Given the description of an element on the screen output the (x, y) to click on. 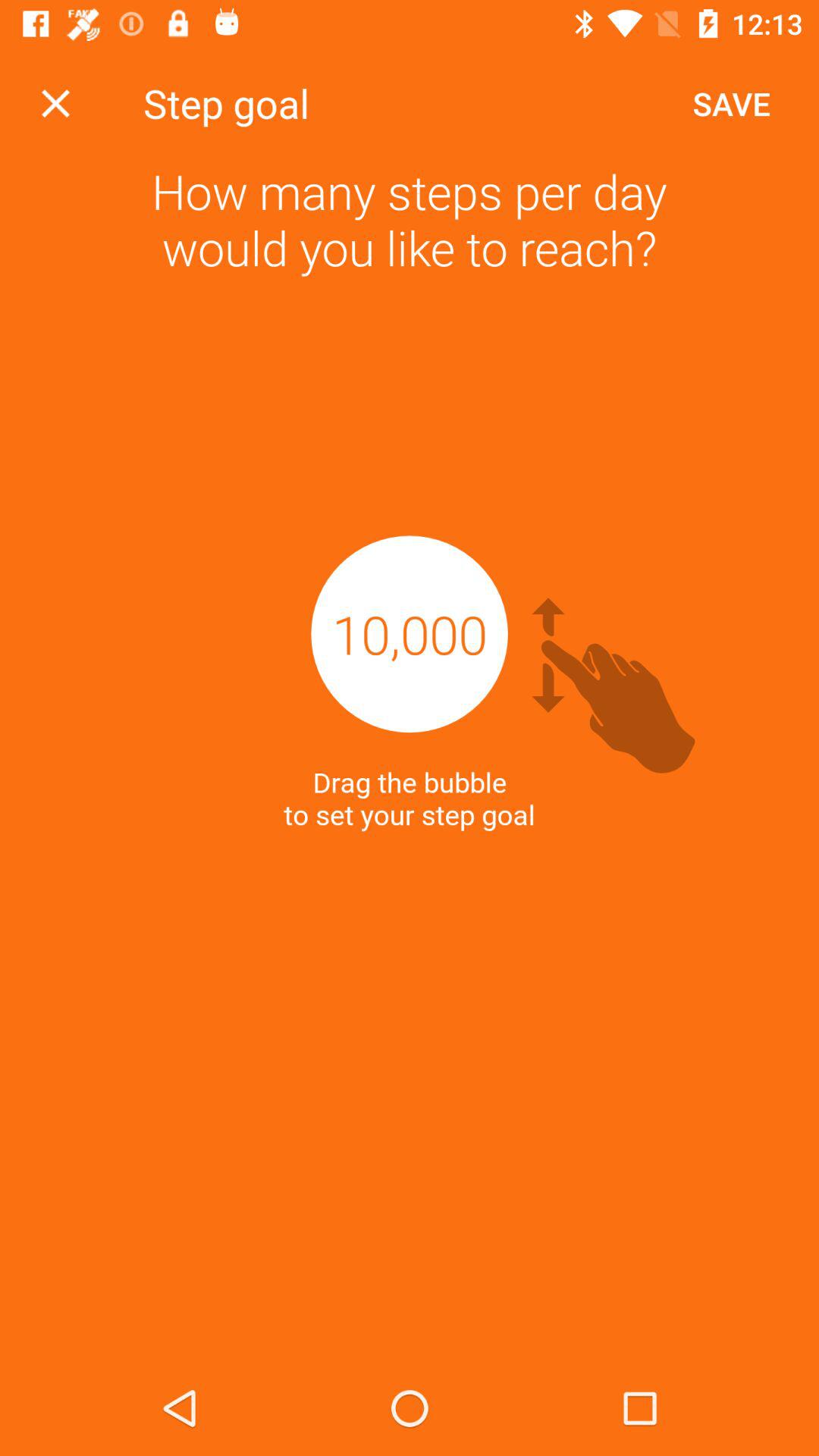
choose app above how many steps icon (731, 103)
